Given the description of an element on the screen output the (x, y) to click on. 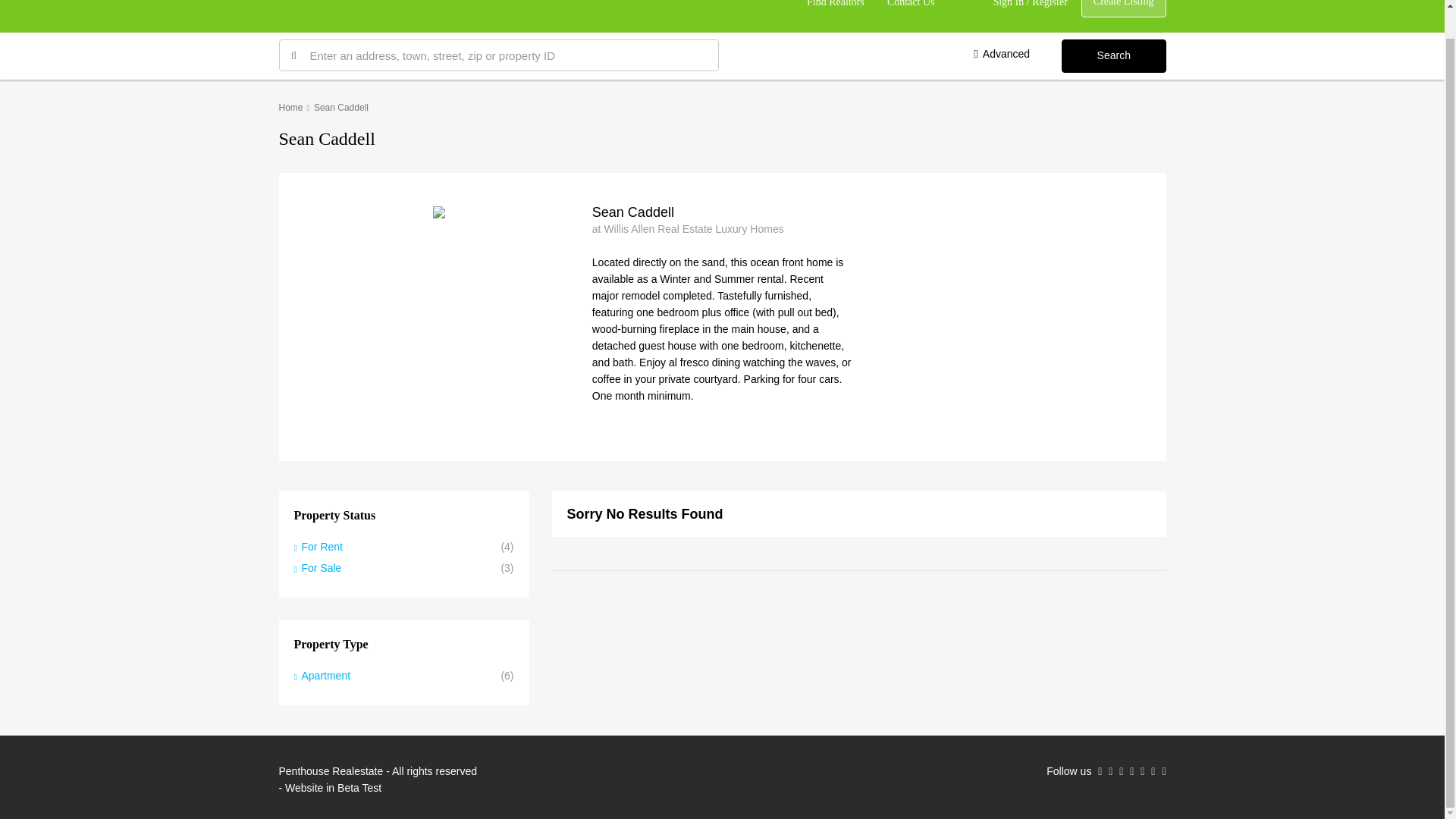
Advanced (1001, 54)
Home (290, 107)
Find Realtors (835, 16)
Apartment (322, 675)
For Rent (318, 546)
Create Listing (1123, 8)
For Sale (318, 567)
Contact Us (911, 16)
Search (1113, 55)
